Given the description of an element on the screen output the (x, y) to click on. 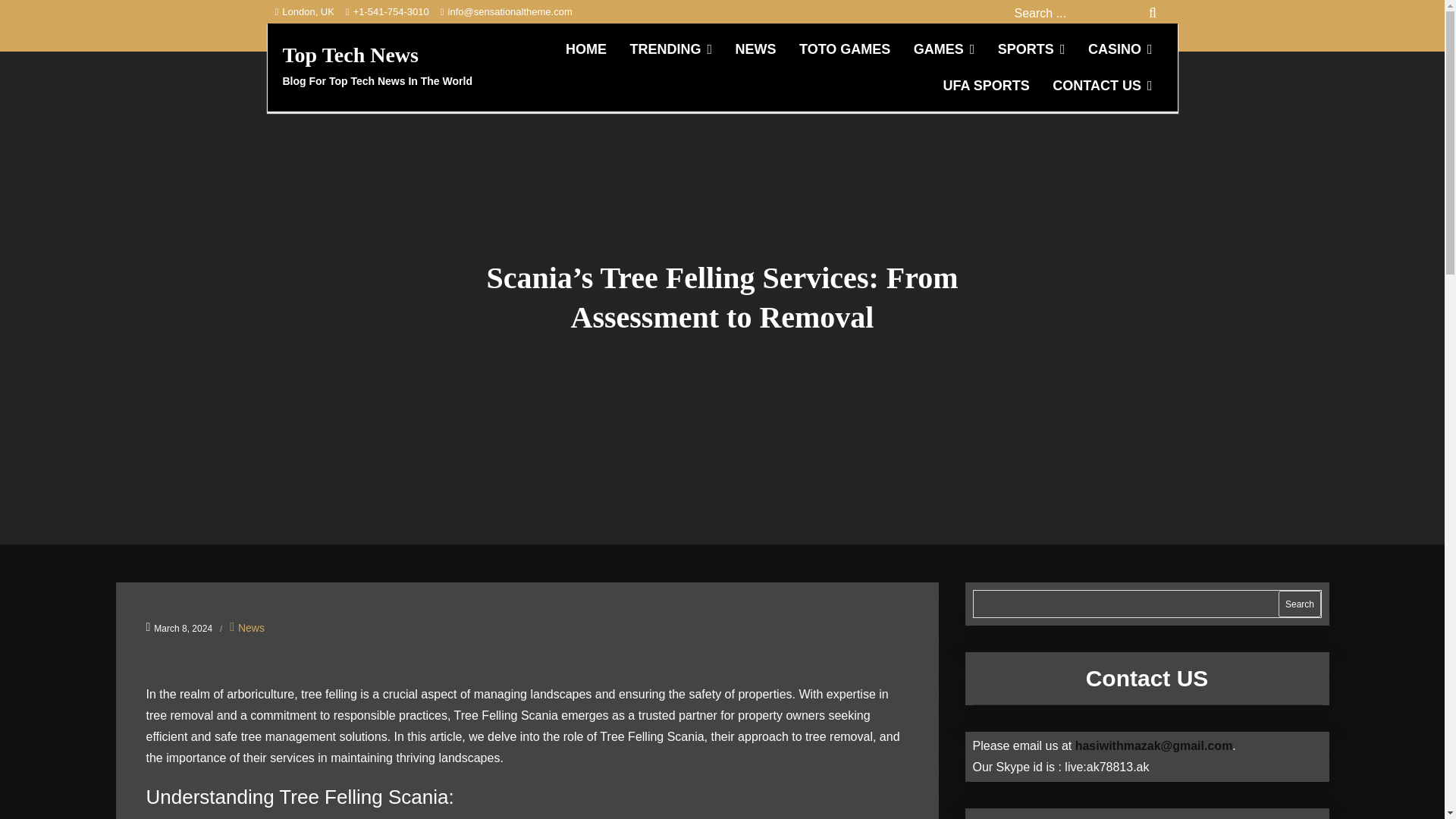
TRENDING (671, 49)
CASINO (1119, 49)
SPORTS (1031, 49)
News (251, 627)
UFA SPORTS (986, 85)
Search (1152, 15)
CONTACT US (1101, 85)
Search for: (1086, 13)
HOME (585, 49)
TOTO GAMES (844, 49)
GAMES (944, 49)
Top Tech News (349, 54)
NEWS (755, 49)
